Given the description of an element on the screen output the (x, y) to click on. 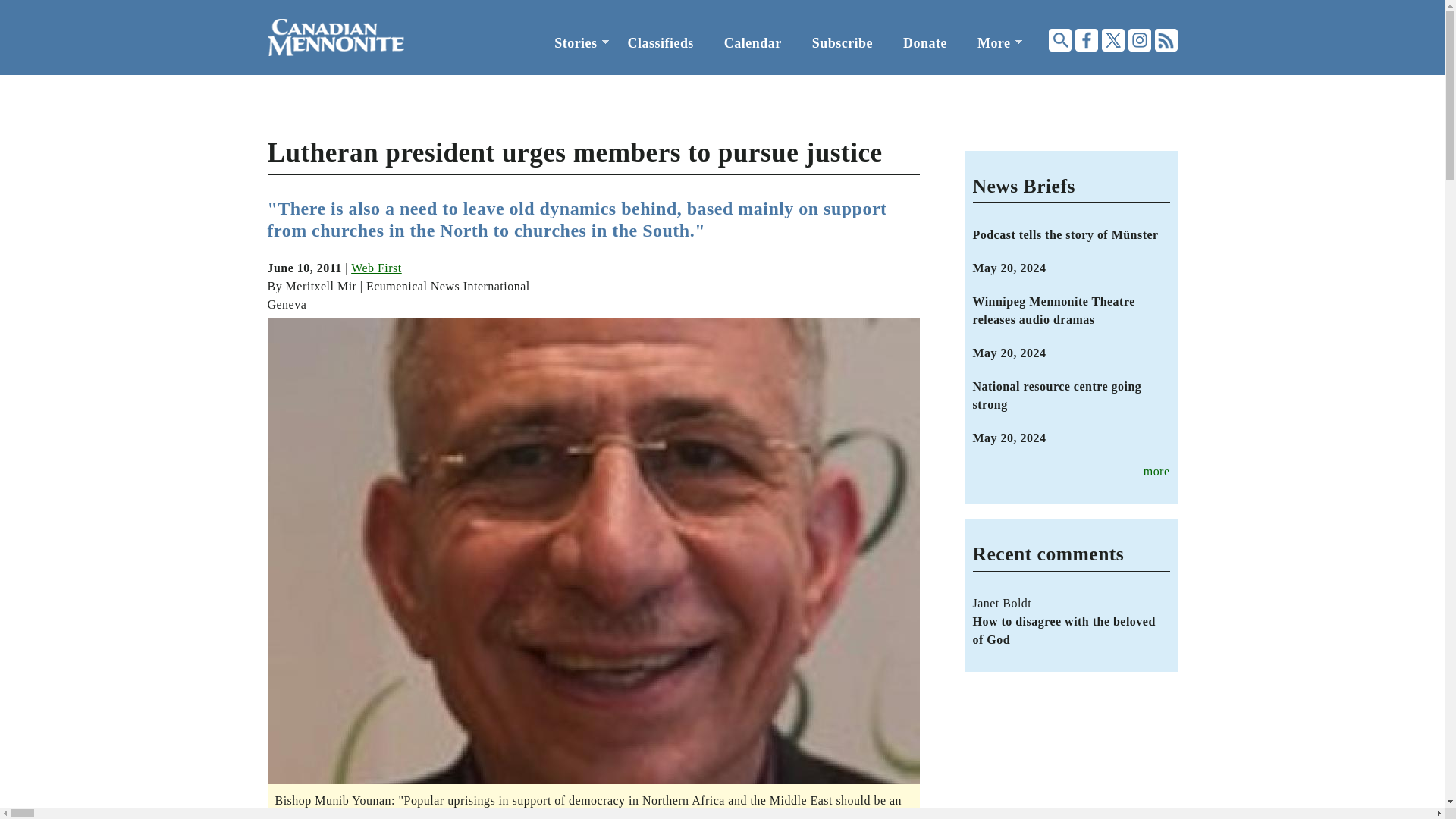
Subscribe (842, 42)
Church Events Calendar (752, 42)
Web First (375, 267)
Donate (925, 42)
Browse Stories (574, 42)
Support Canadian Mennonite (925, 42)
Subscribe to Canadian Mennonite (842, 42)
RSS (1165, 39)
Classifieds (660, 42)
Calendar (752, 42)
